Given the description of an element on the screen output the (x, y) to click on. 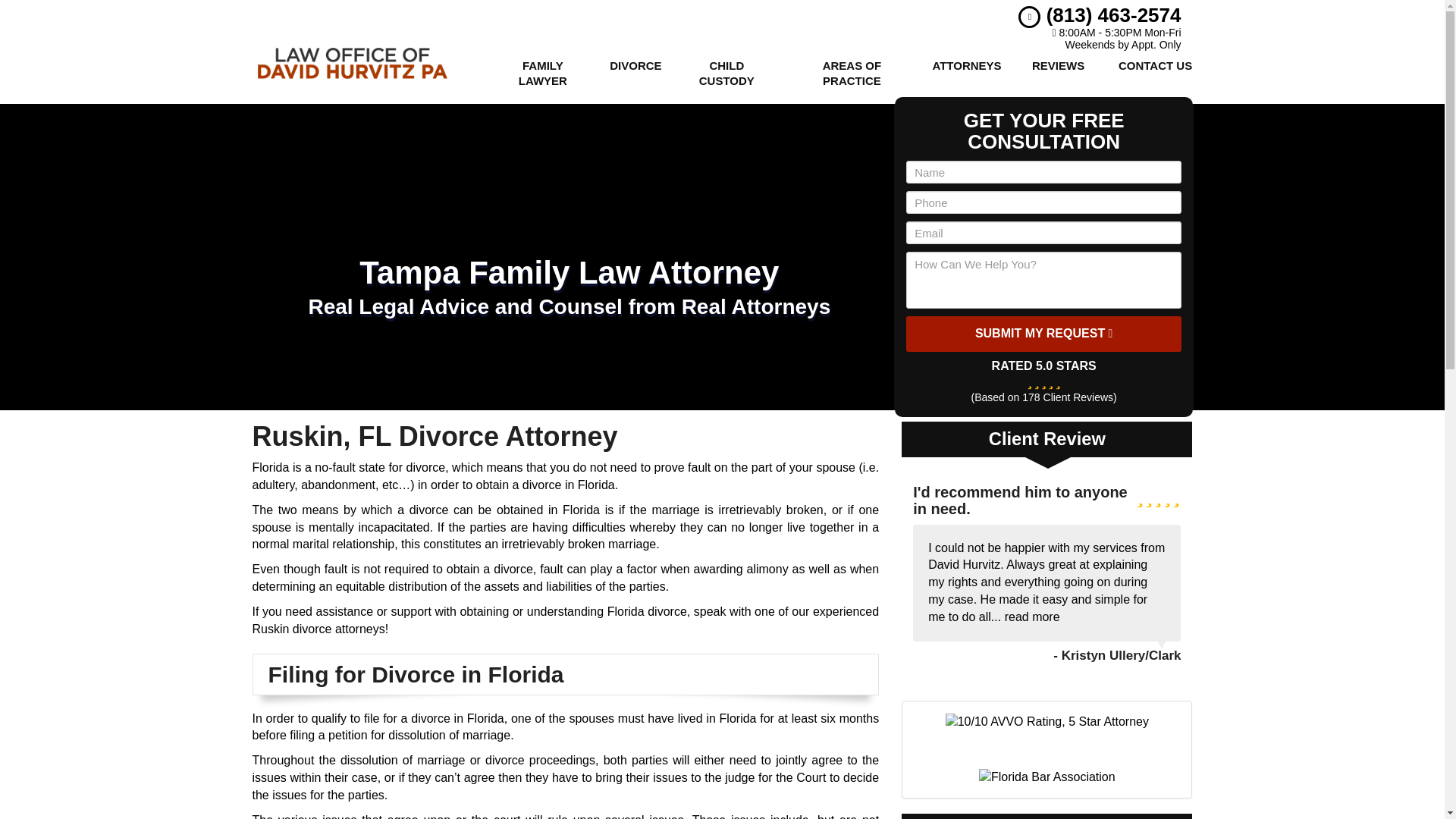
CHILD CUSTODY (726, 73)
Areas of Practice (851, 73)
Family Lawyer (542, 73)
DIVORCE (633, 73)
Reviews (1058, 73)
FAMILY LAWYER (542, 73)
Attorneys (964, 73)
CONTACT US (1155, 73)
Divorce (633, 73)
REVIEWS (1058, 73)
AREAS OF PRACTICE (851, 73)
Child Custody (726, 73)
ATTORNEYS (964, 73)
